Given the description of an element on the screen output the (x, y) to click on. 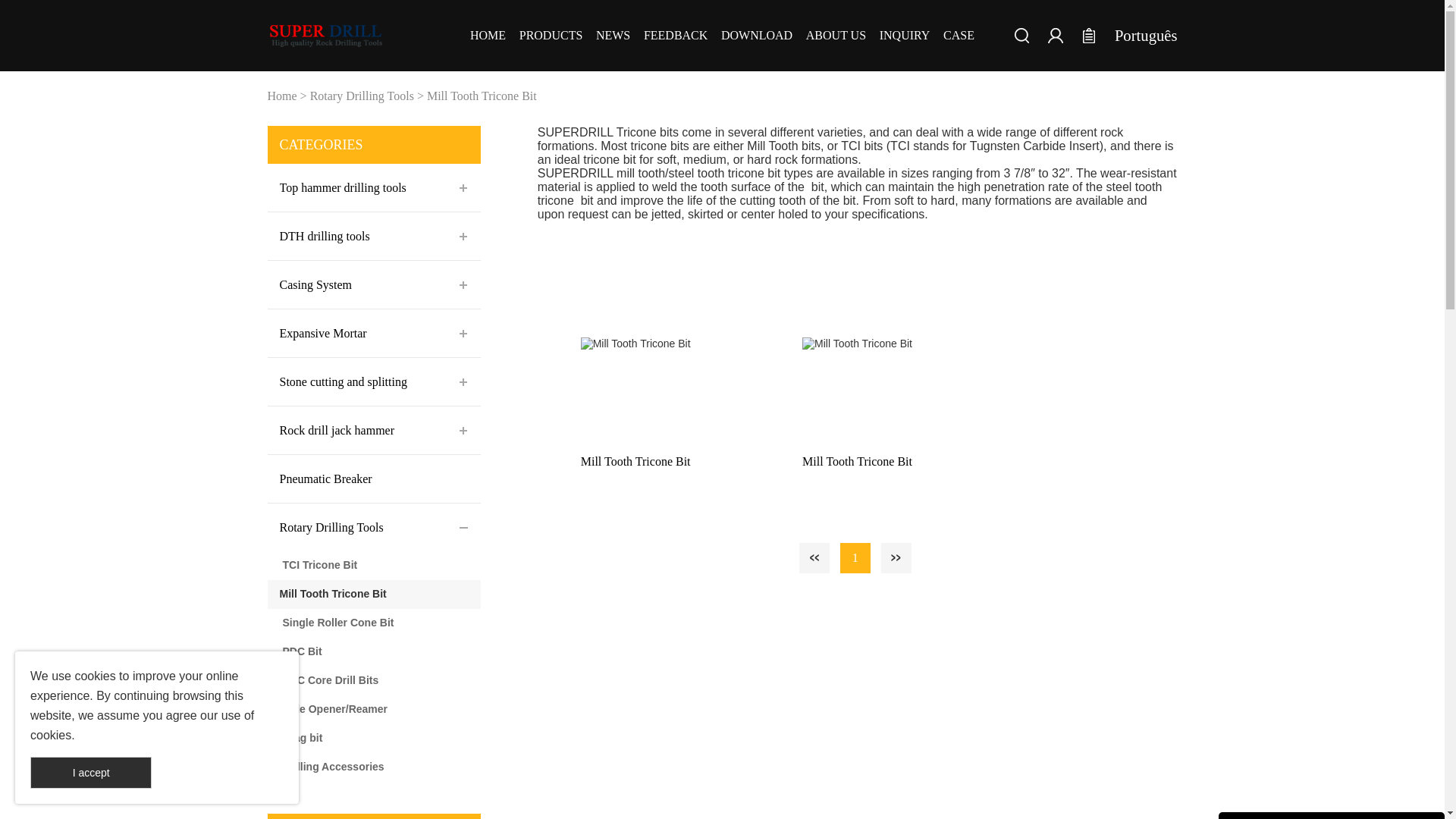
Products (551, 36)
I accept (90, 772)
Home (487, 36)
